Given the description of an element on the screen output the (x, y) to click on. 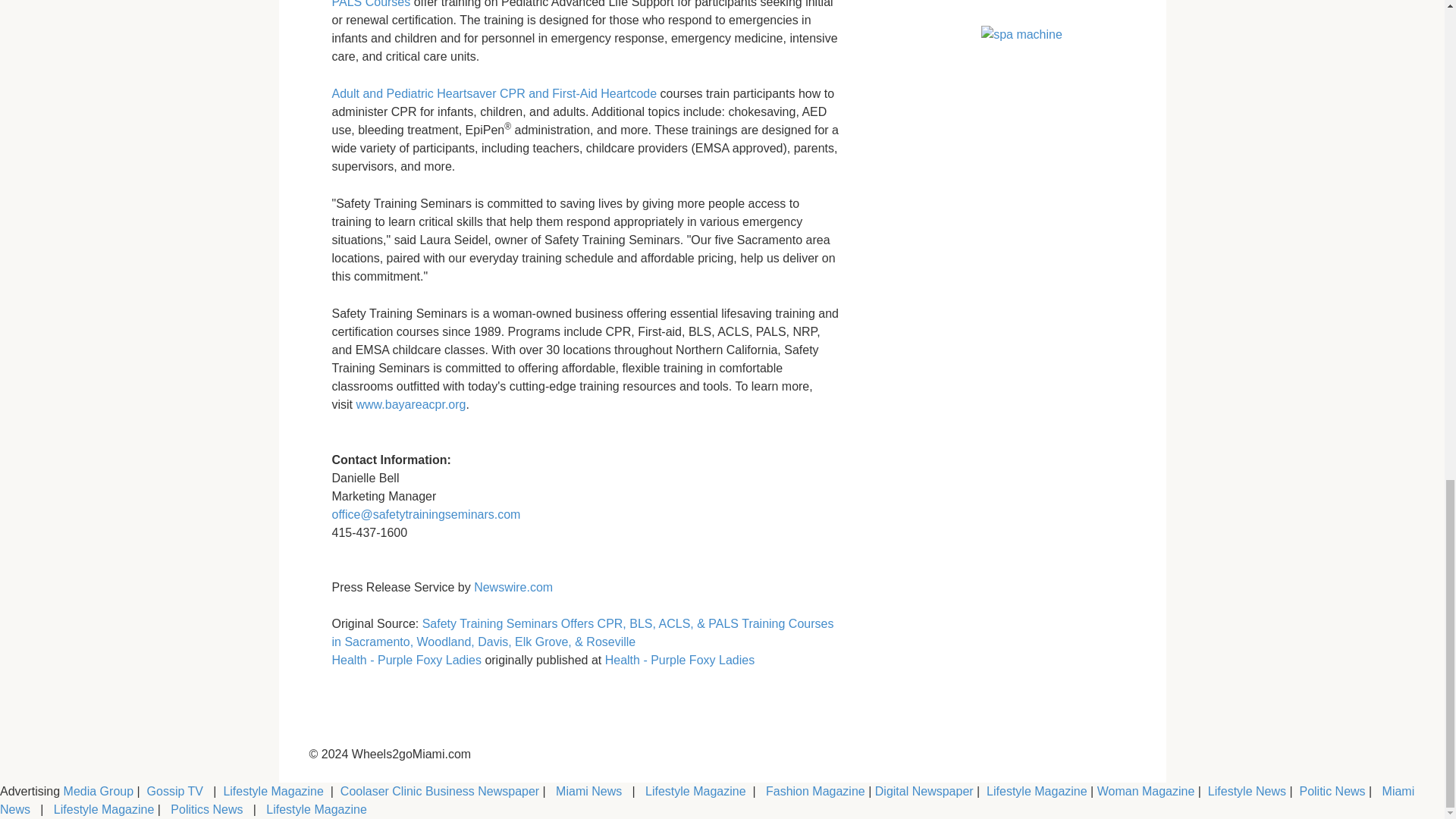
PALS Courses (370, 4)
 www.bayareacpr.org (408, 404)
Adult and Pediatric Heartsaver CPR and First-Aid Heartcode (494, 92)
